Given the description of an element on the screen output the (x, y) to click on. 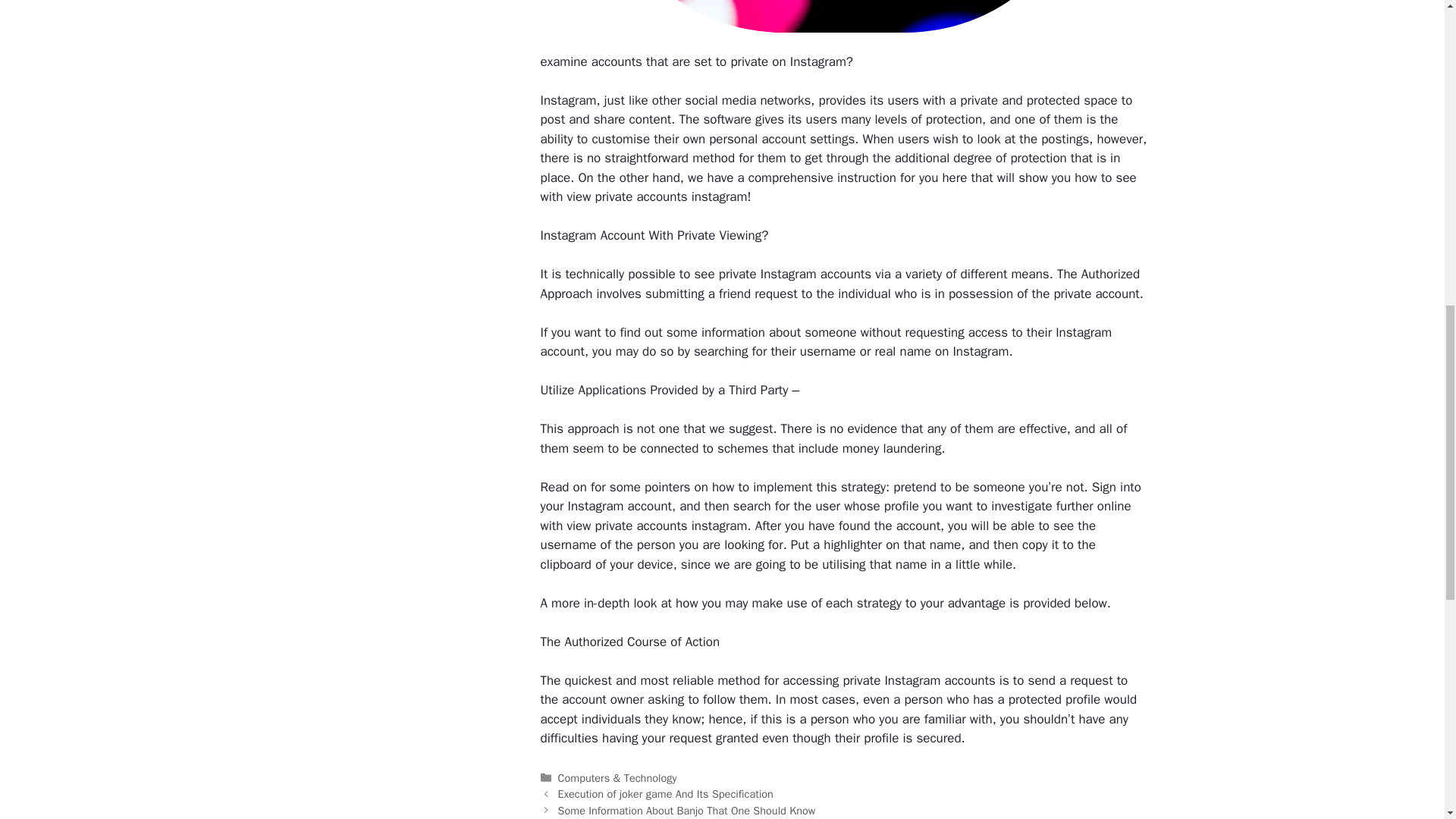
Some Information About Banjo That One Should Know (686, 810)
Execution of joker game And Its Specification (665, 793)
Scroll back to top (1406, 720)
